Given the description of an element on the screen output the (x, y) to click on. 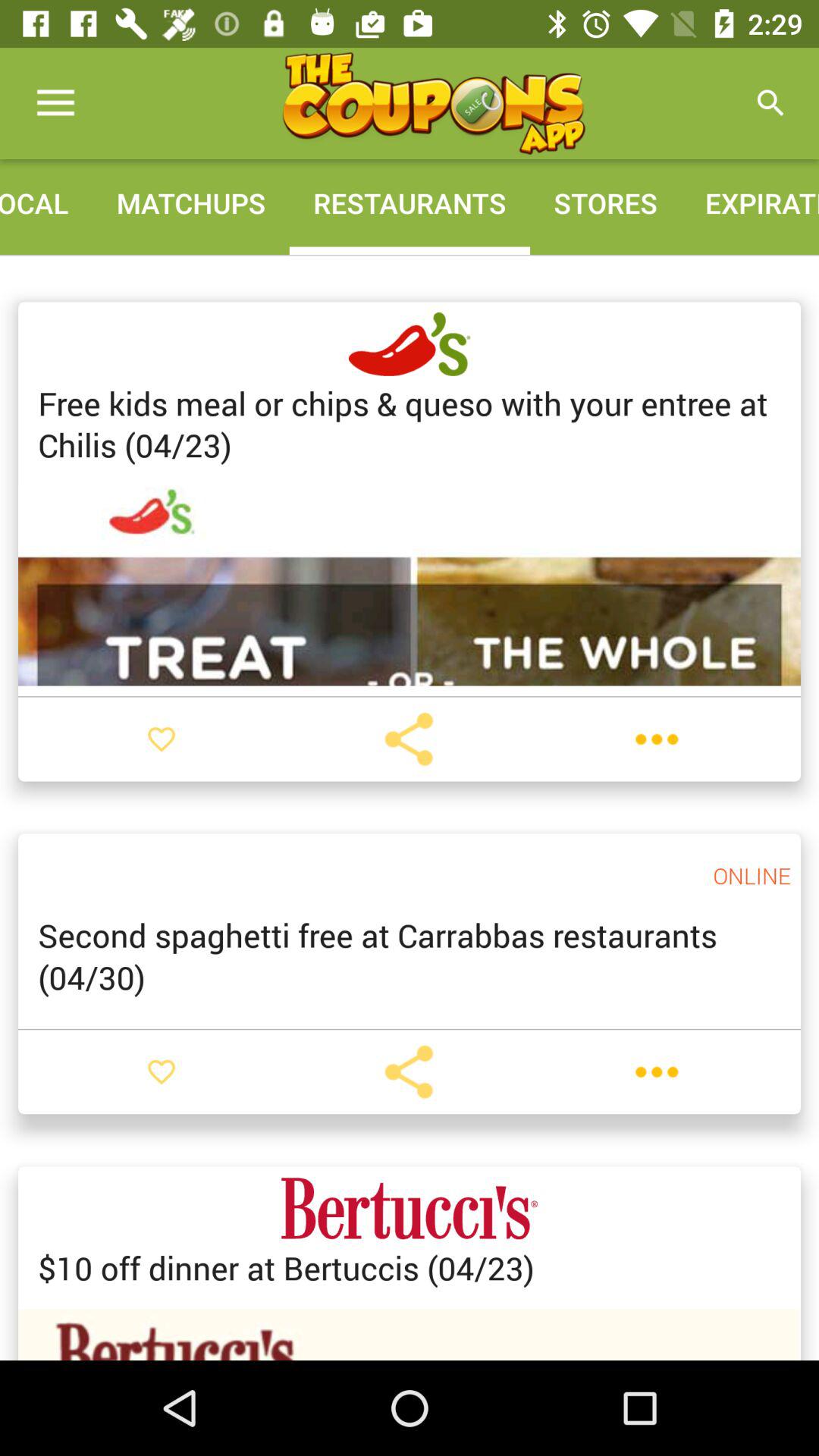
favorite switch (161, 739)
